Given the description of an element on the screen output the (x, y) to click on. 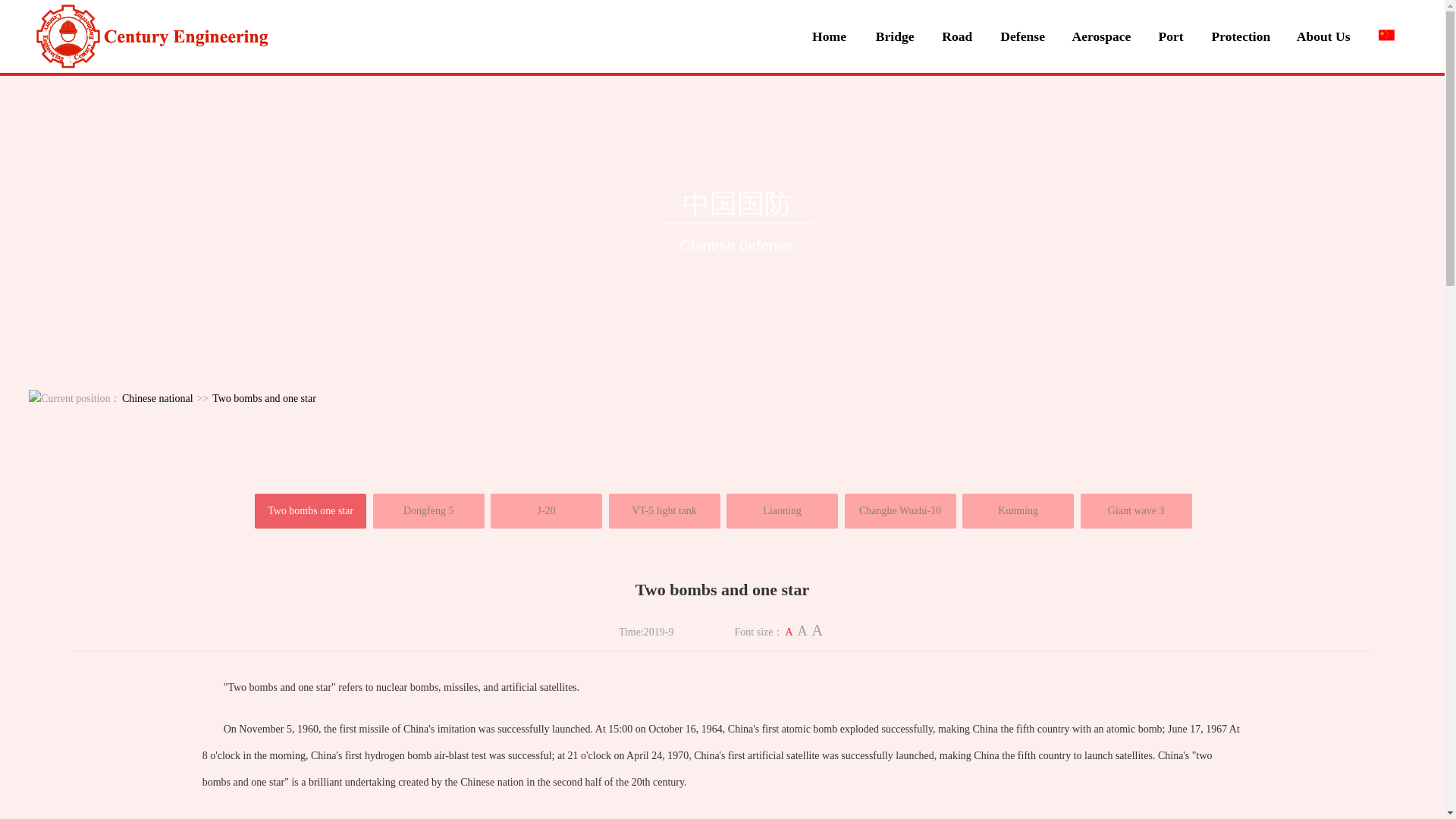
Bridge (891, 34)
Aerospace (1097, 34)
Defense (1019, 34)
